Given the description of an element on the screen output the (x, y) to click on. 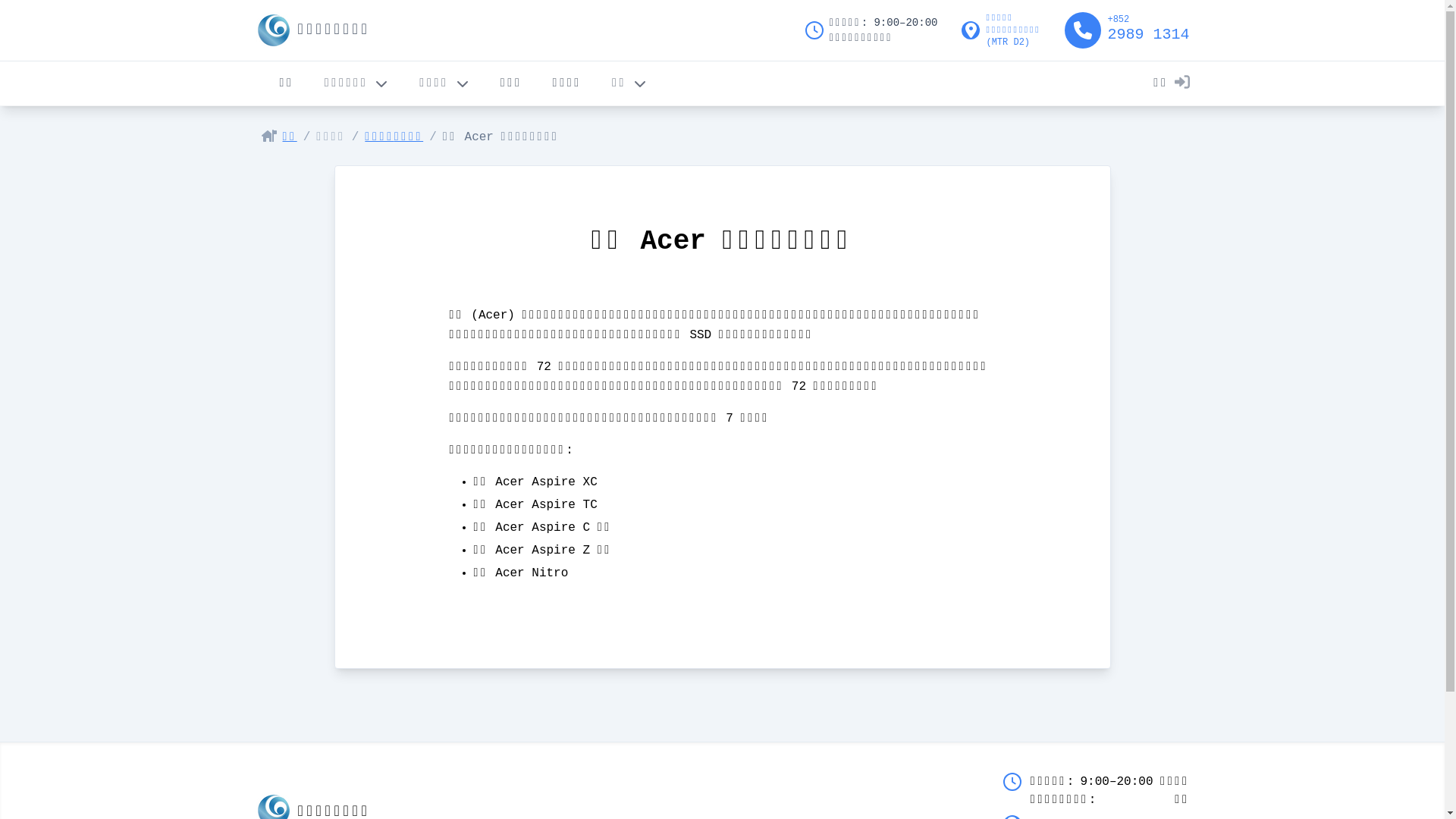
+852
2989 1314 Element type: text (1126, 30)
